Given the description of an element on the screen output the (x, y) to click on. 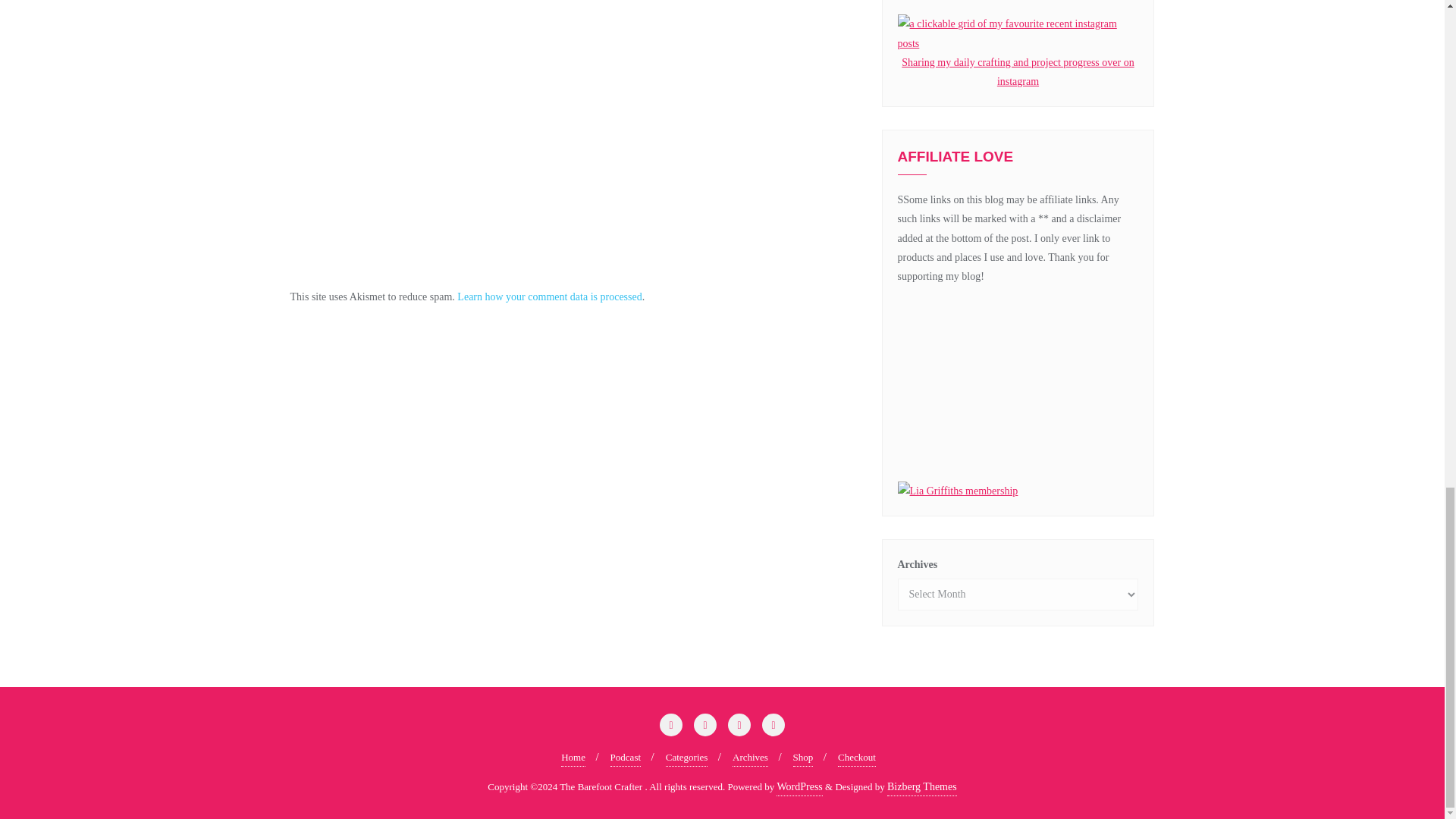
Learn how your comment data is processed (549, 296)
